Given the description of an element on the screen output the (x, y) to click on. 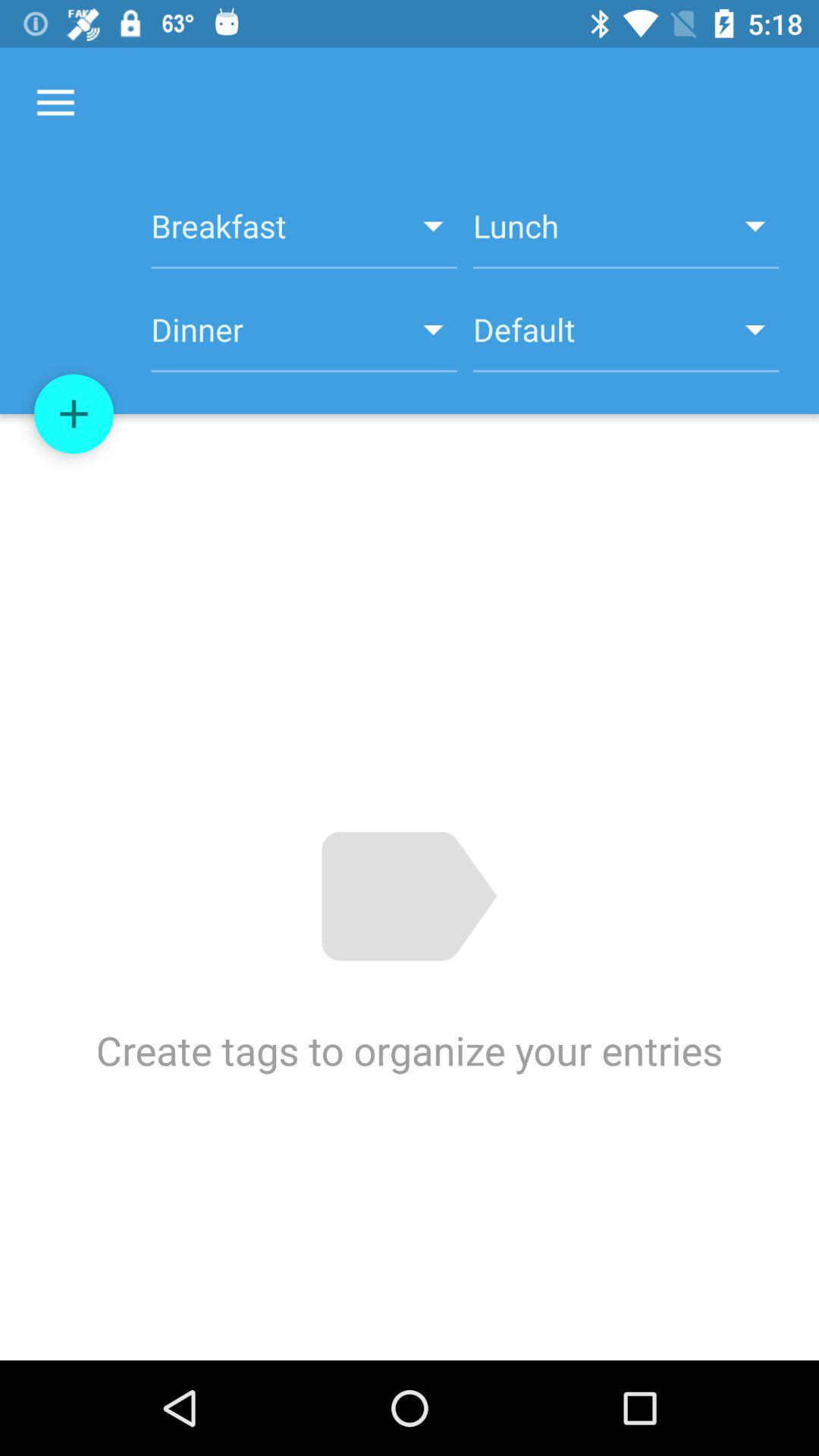
click item above dinner (304, 234)
